Given the description of an element on the screen output the (x, y) to click on. 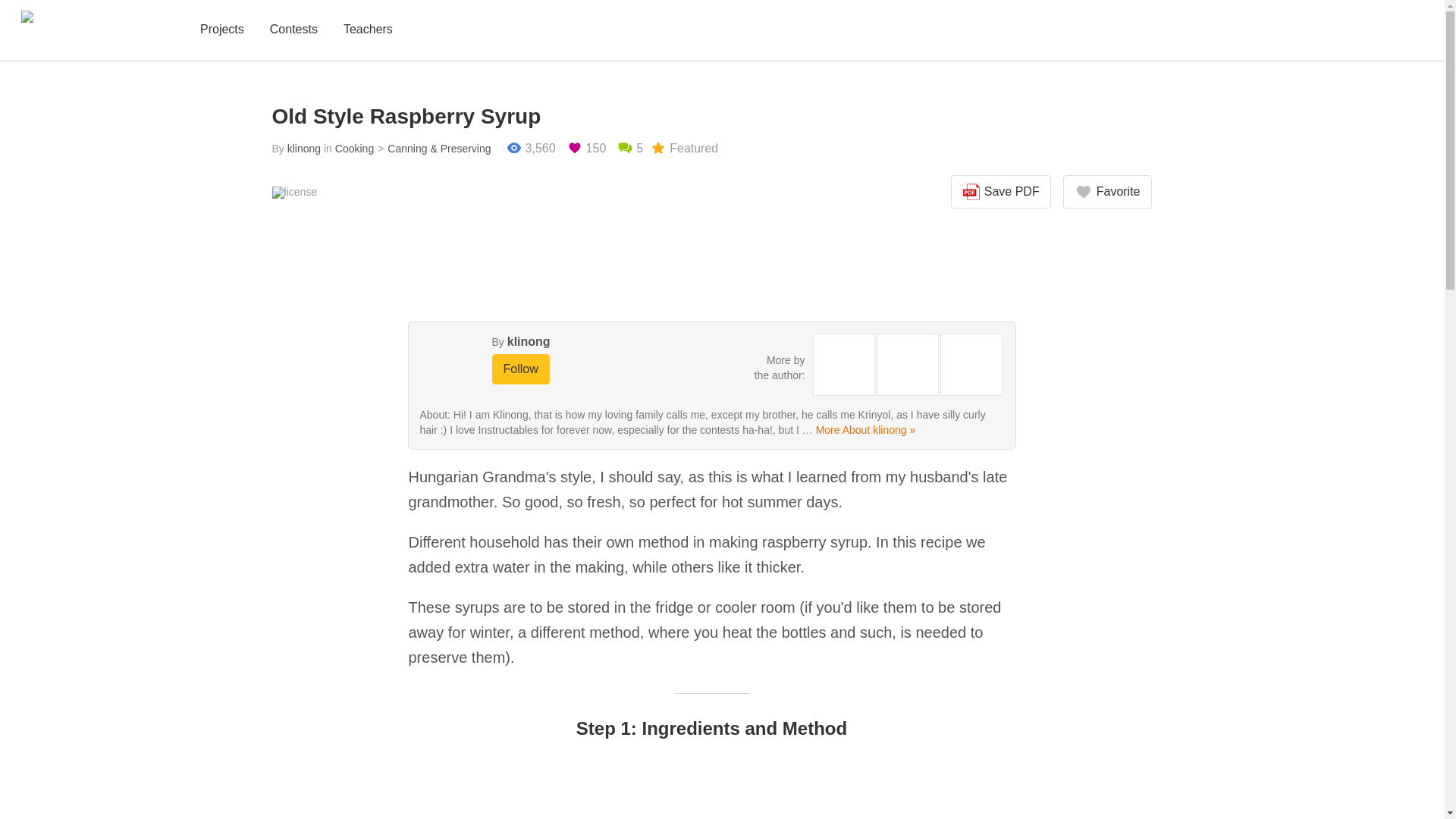
klinong (528, 341)
Contests (293, 30)
Teachers (368, 30)
Save PDF (1000, 191)
Follow (520, 368)
klinong (303, 148)
Cooking (354, 148)
Projects (221, 30)
5 (630, 148)
Favorite (1106, 191)
